Given the description of an element on the screen output the (x, y) to click on. 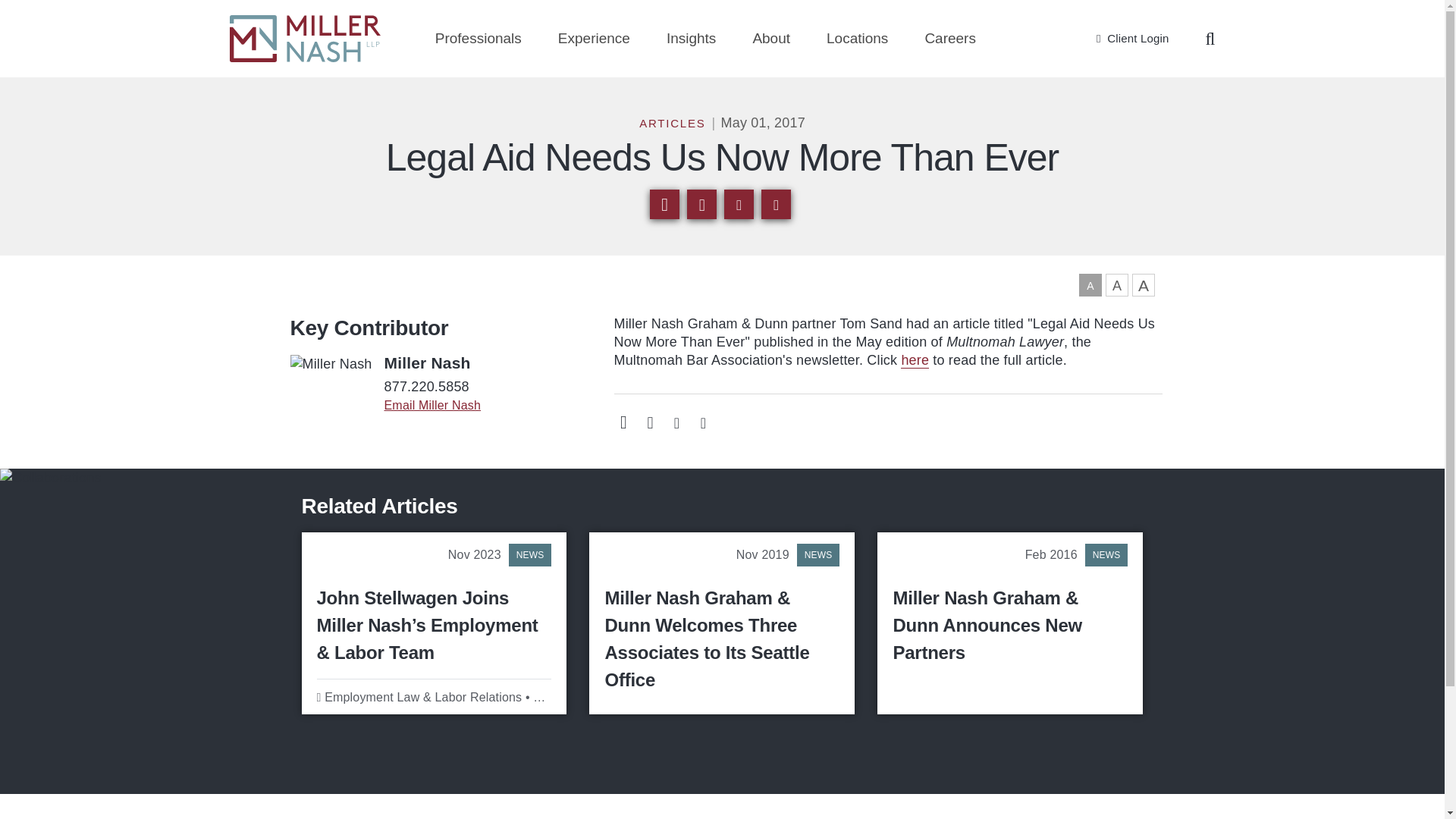
More Sharing Options (701, 204)
More Sharing Options (649, 421)
Share via Email (664, 204)
Experience (593, 38)
News (1106, 554)
Share via Twitter (702, 421)
Adjust Text Size - Normal (1089, 284)
Share via Twitter (775, 204)
Adjust Text Size - Largest (1142, 284)
News (818, 554)
